Given the description of an element on the screen output the (x, y) to click on. 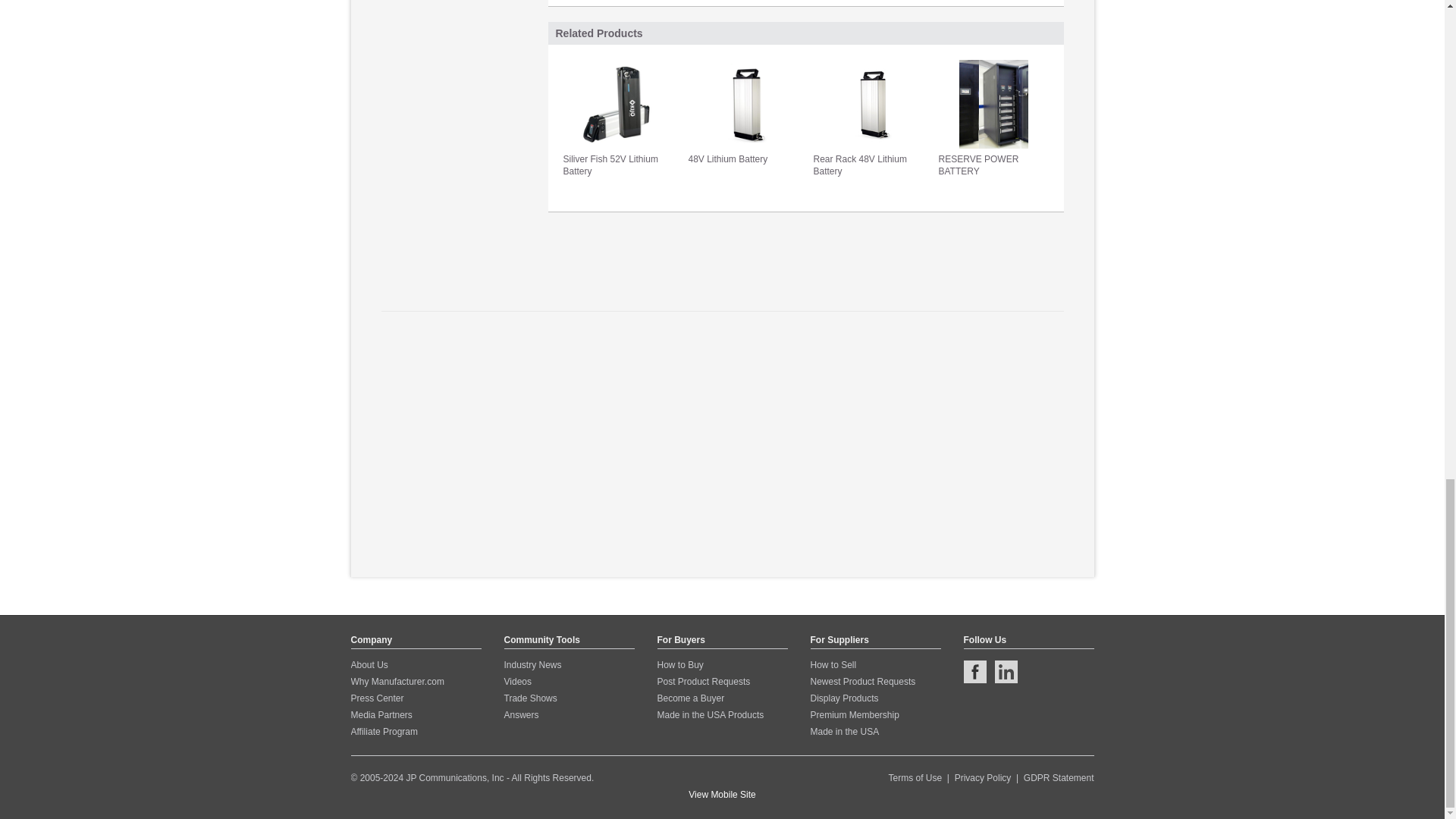
How to Sell (832, 665)
Industry News (531, 665)
48V Lithium Battery (742, 112)
Press Center (376, 697)
Display Products (843, 697)
RESERVE POWER BATTERY (993, 118)
Post Product Requests (702, 681)
Trade Shows (529, 697)
48V Lithium Battery (742, 112)
Rear Rack 48V Lithium Battery (867, 118)
